Given the description of an element on the screen output the (x, y) to click on. 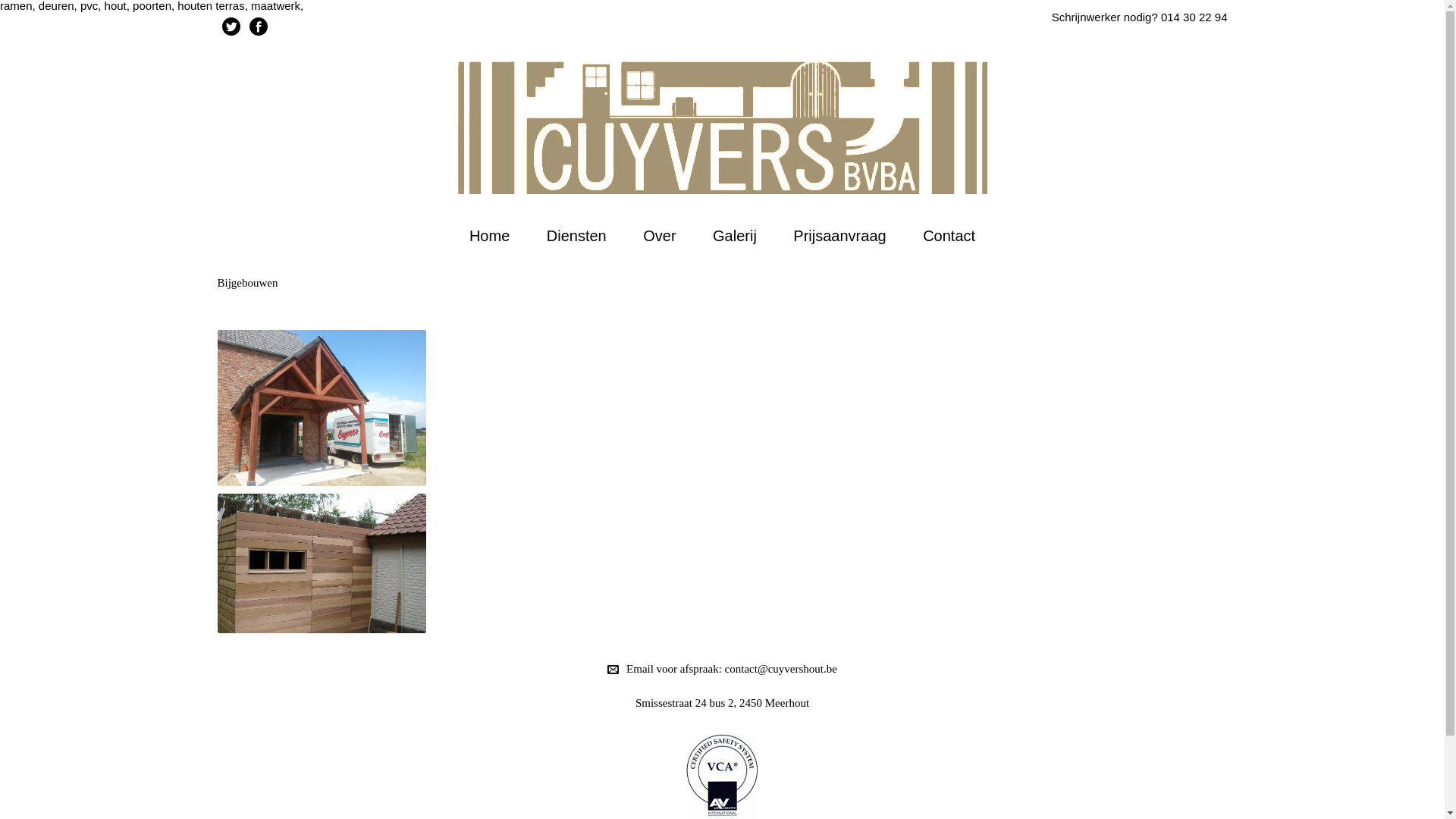
Prijsaanvraag Element type: text (839, 235)
Galerij Element type: text (734, 235)
Contact Element type: text (948, 235)
Diensten Element type: text (576, 235)
Schrijnwerker nodig? 014 30 22 94 Element type: text (1139, 16)
Home Element type: text (489, 235)
Over Element type: text (659, 235)
